Given the description of an element on the screen output the (x, y) to click on. 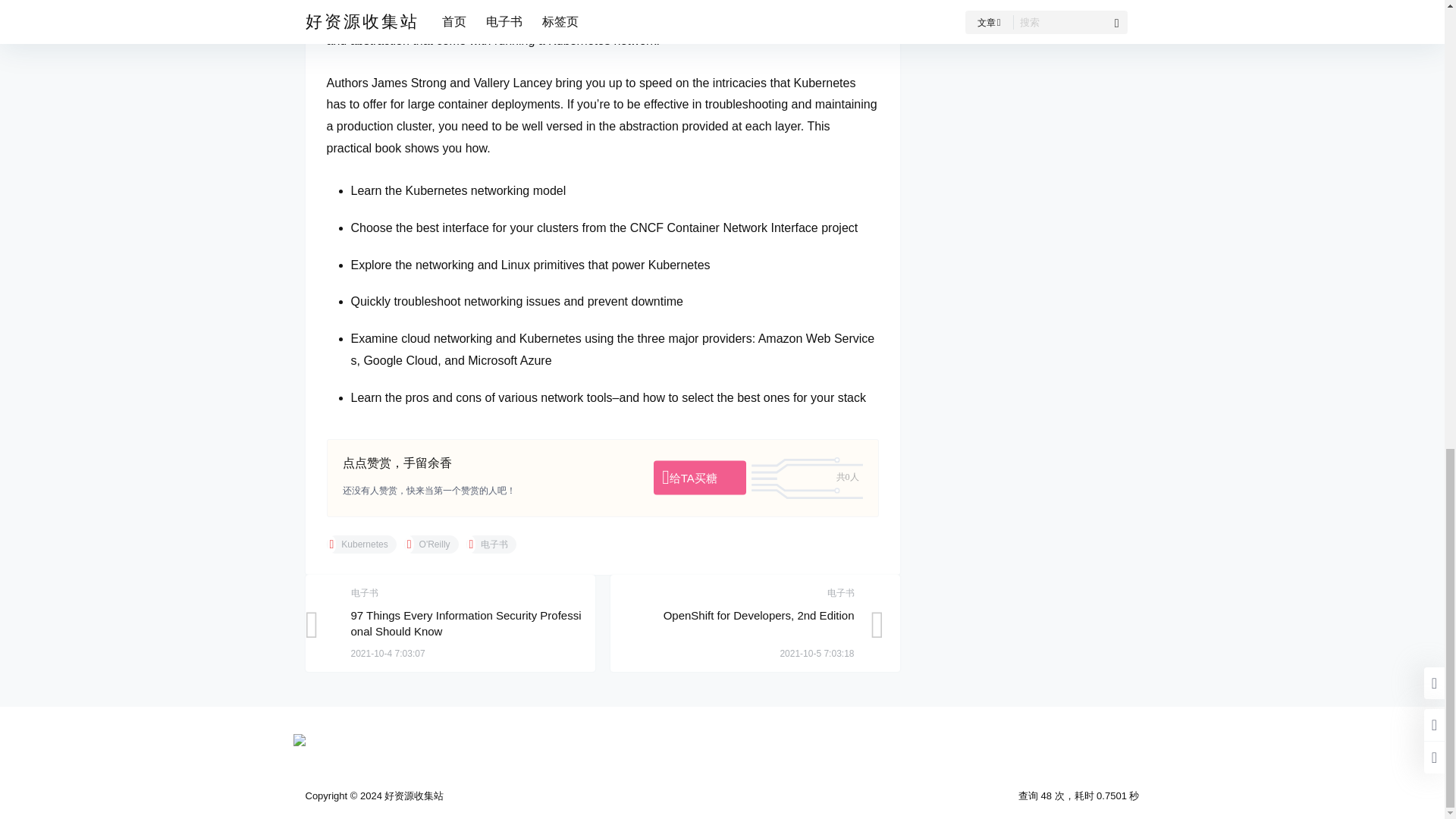
OpenShift for Developers, 2nd Edition (758, 615)
O'Reilly (431, 544)
Kubernetes (361, 544)
